Given the description of an element on the screen output the (x, y) to click on. 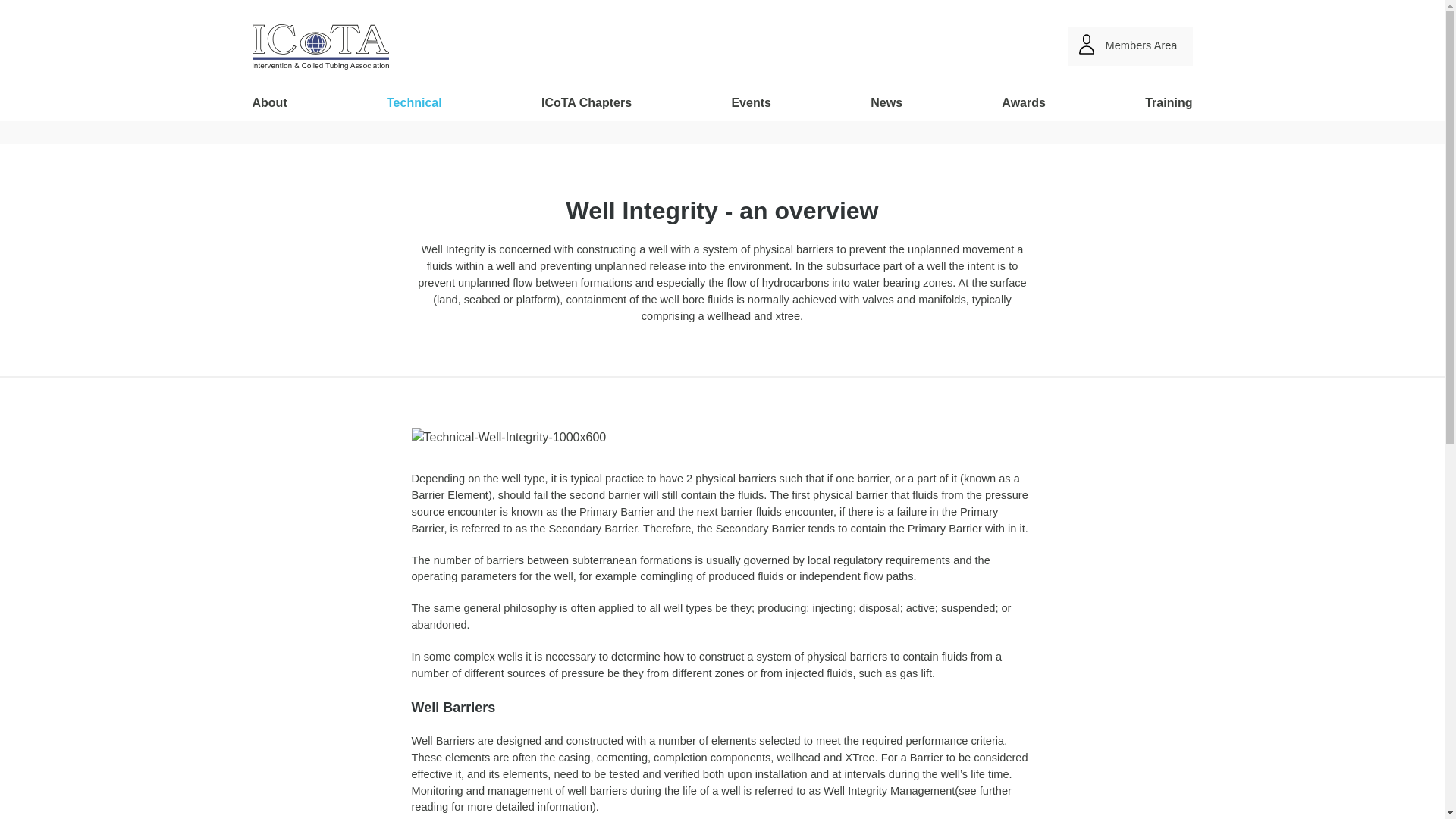
Members Area (1129, 46)
to homepage (319, 47)
Technical (414, 102)
About (268, 102)
